Given the description of an element on the screen output the (x, y) to click on. 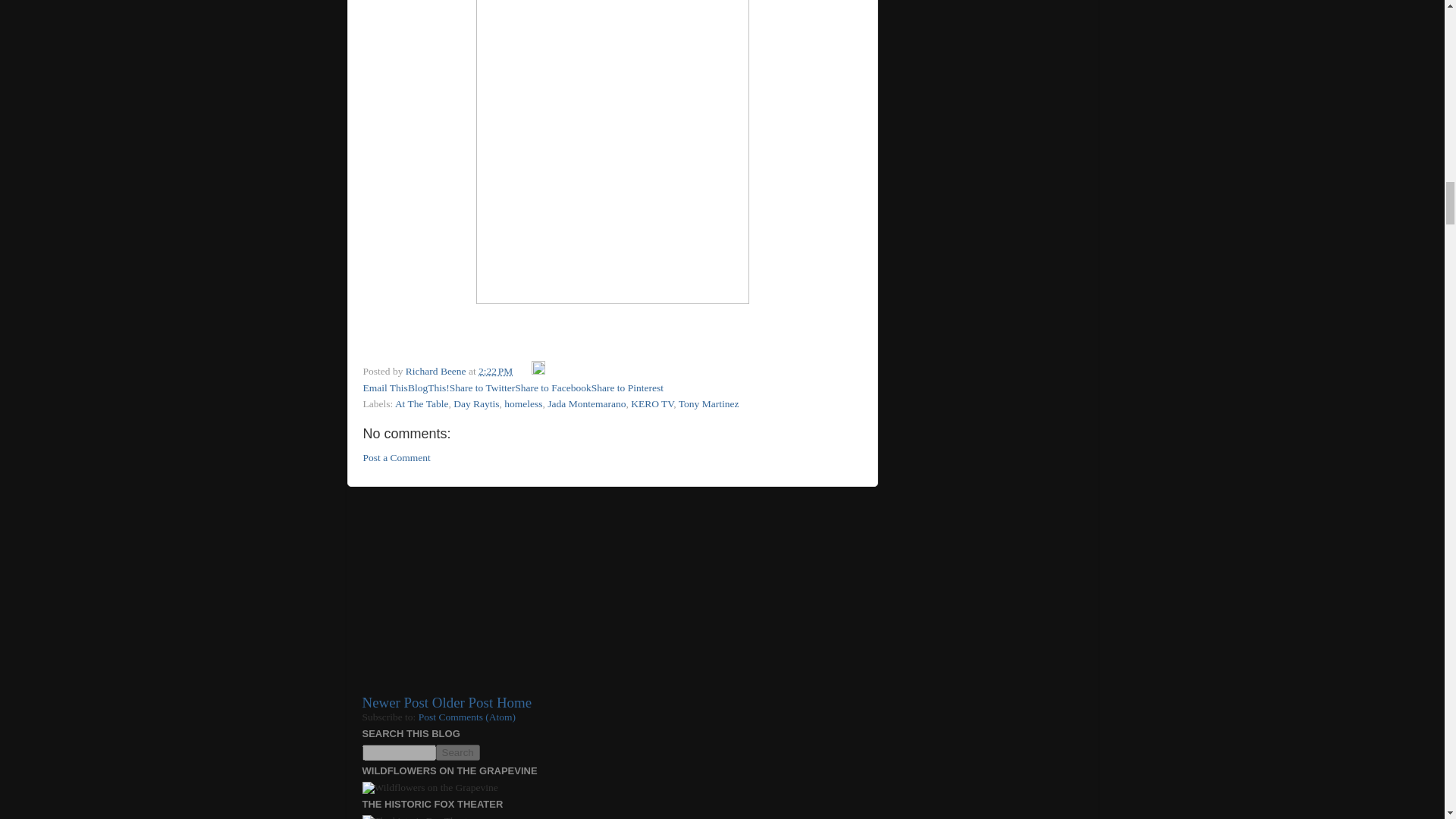
Older Post (462, 702)
Post a Comment (395, 457)
search (398, 752)
BlogThis! (428, 387)
Share to Twitter (482, 387)
Email Post (523, 370)
Tony Martinez (708, 403)
author profile (437, 370)
Home (513, 702)
search (457, 752)
BlogThis! (428, 387)
Older Post (462, 702)
permanent link (495, 370)
Share to Facebook (553, 387)
Day Raytis (475, 403)
